Given the description of an element on the screen output the (x, y) to click on. 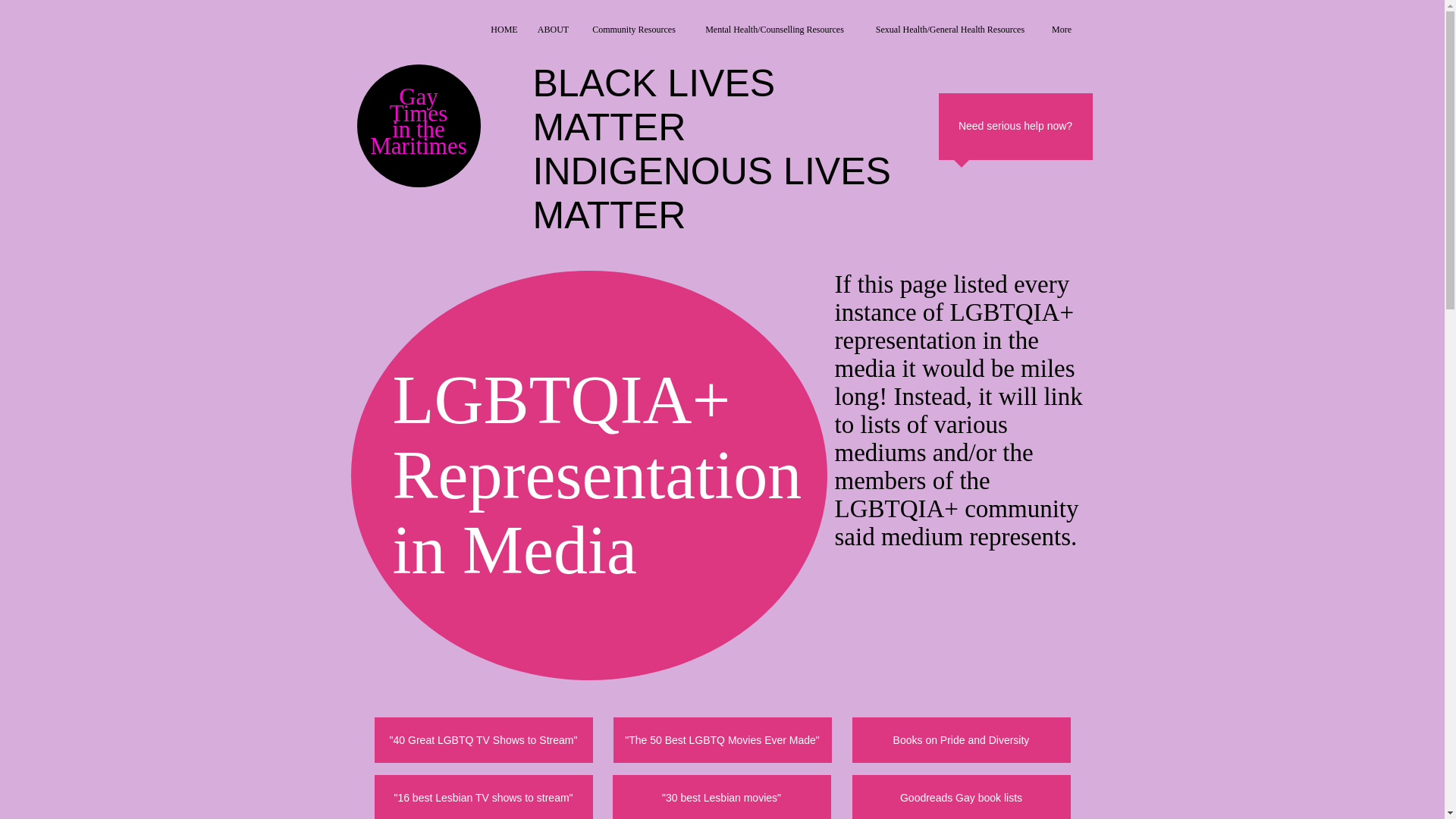
"30 best Lesbian movies" (721, 796)
Need serious help now? (1015, 125)
"16 best Lesbian TV shows to stream" (483, 796)
ABOUT (552, 29)
HOME (504, 29)
"40 Great LGBTQ TV Shows to Stream" (483, 739)
Community Resources (633, 29)
"The 50 Best LGBTQ Movies Ever Made" (721, 739)
Gay (418, 96)
